Given the description of an element on the screen output the (x, y) to click on. 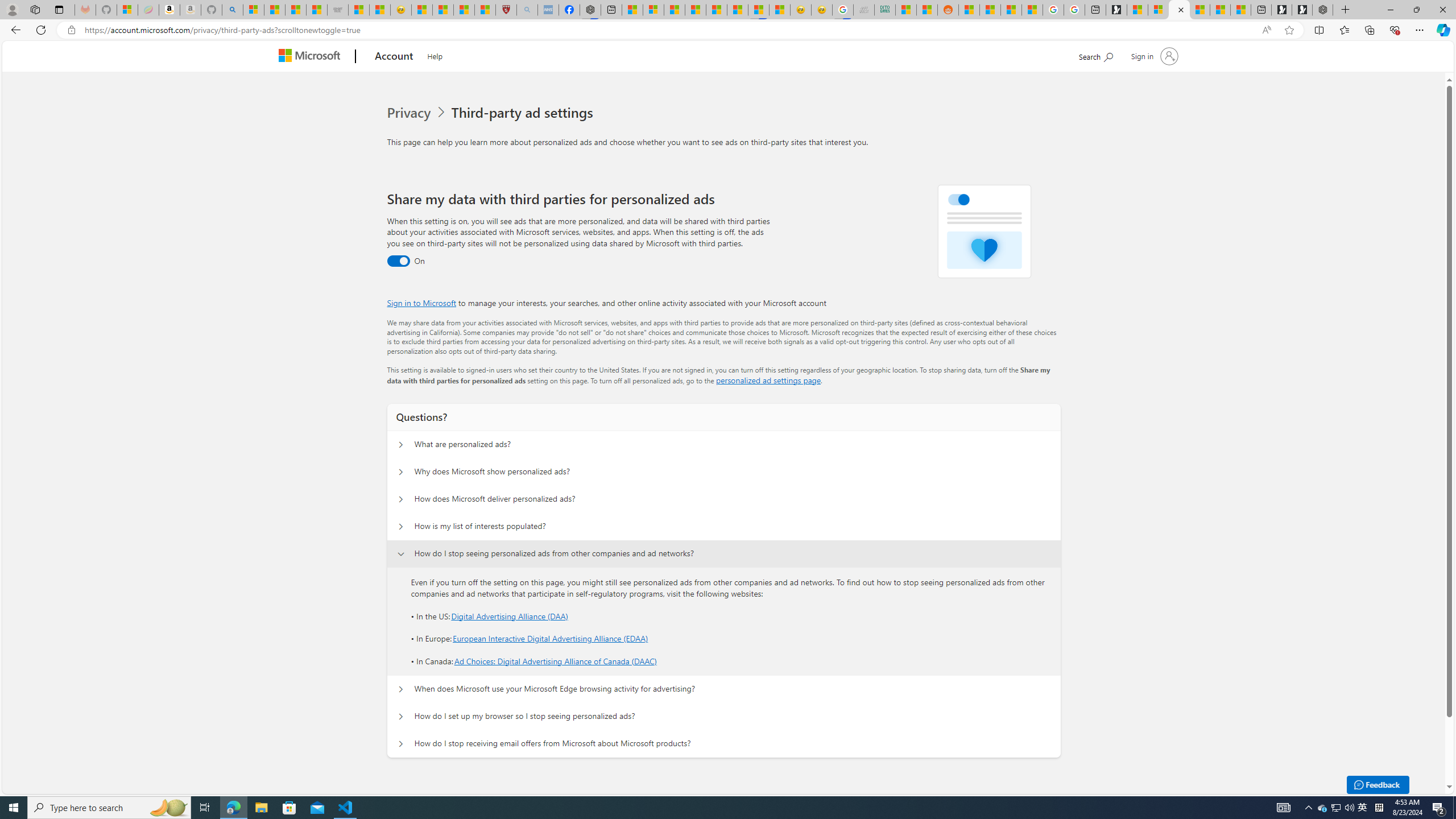
Combat Siege (337, 9)
12 Popular Science Lies that Must be Corrected (485, 9)
Science - MSN (463, 9)
Nordace - Nordace Siena Is Not An Ordinary Backpack (1322, 9)
